Given the description of an element on the screen output the (x, y) to click on. 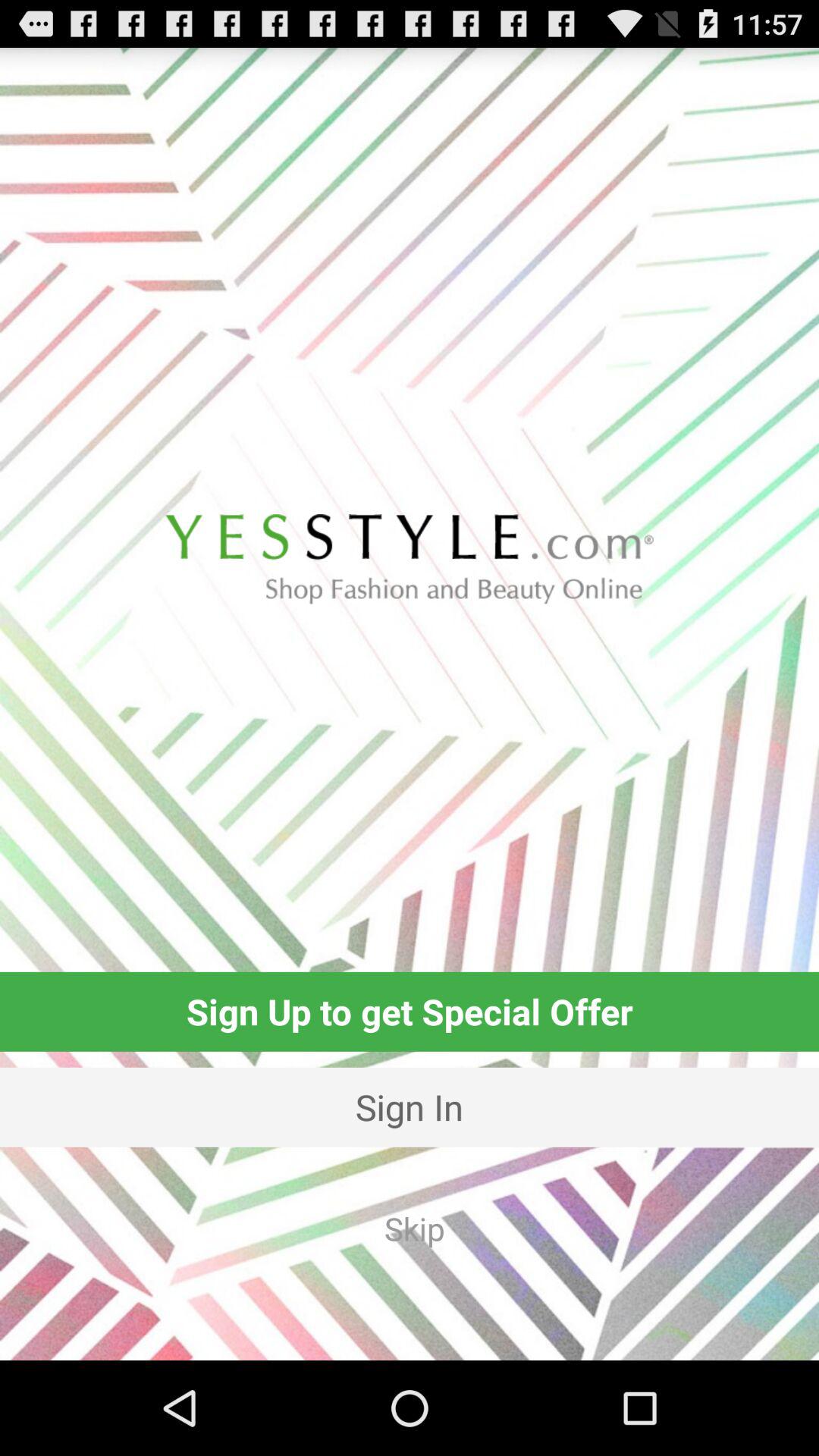
scroll until the sign in app (409, 1107)
